Given the description of an element on the screen output the (x, y) to click on. 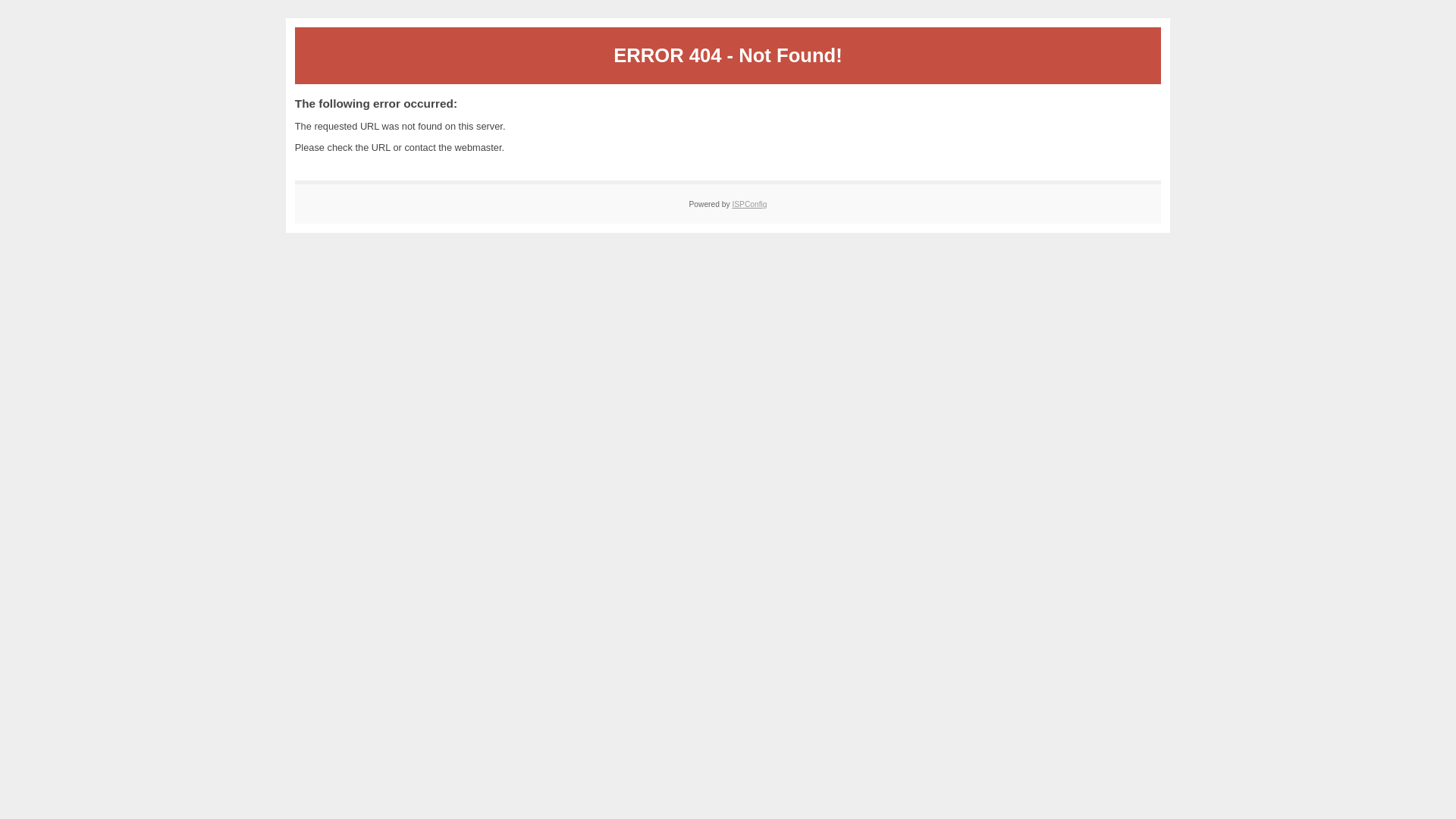
ISPConfig Element type: text (748, 204)
